Given the description of an element on the screen output the (x, y) to click on. 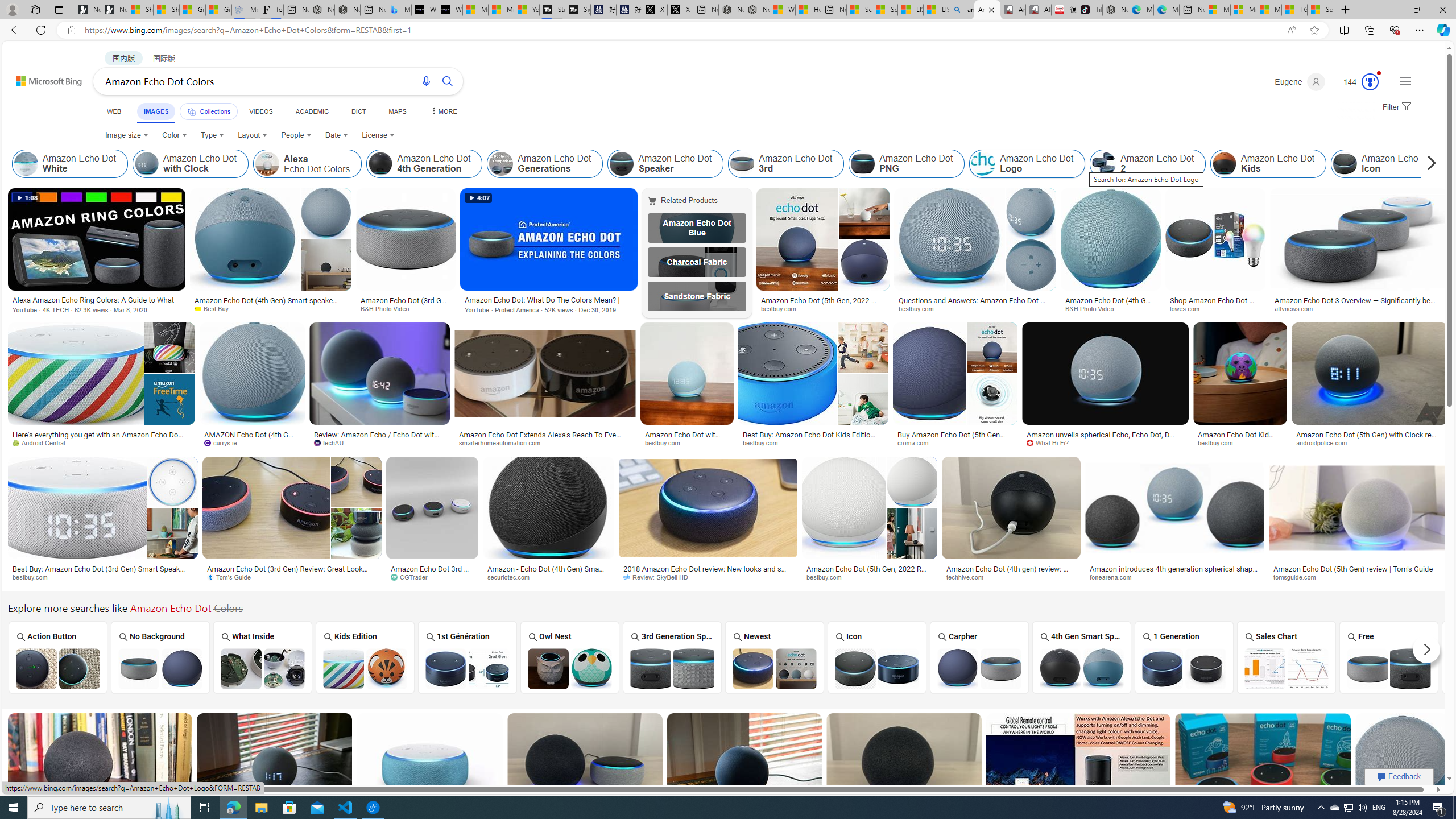
fonearena.com (1114, 576)
Amazon Echo Dot with Clock (189, 163)
Tom's Guide (232, 576)
VIDEOS (260, 111)
People (295, 135)
Android Central (42, 442)
What Inside a Amazon Echo Dot What Inside (262, 656)
Class: item col (1388, 163)
What Inside a Amazon Echo Dot (262, 668)
